Given the description of an element on the screen output the (x, y) to click on. 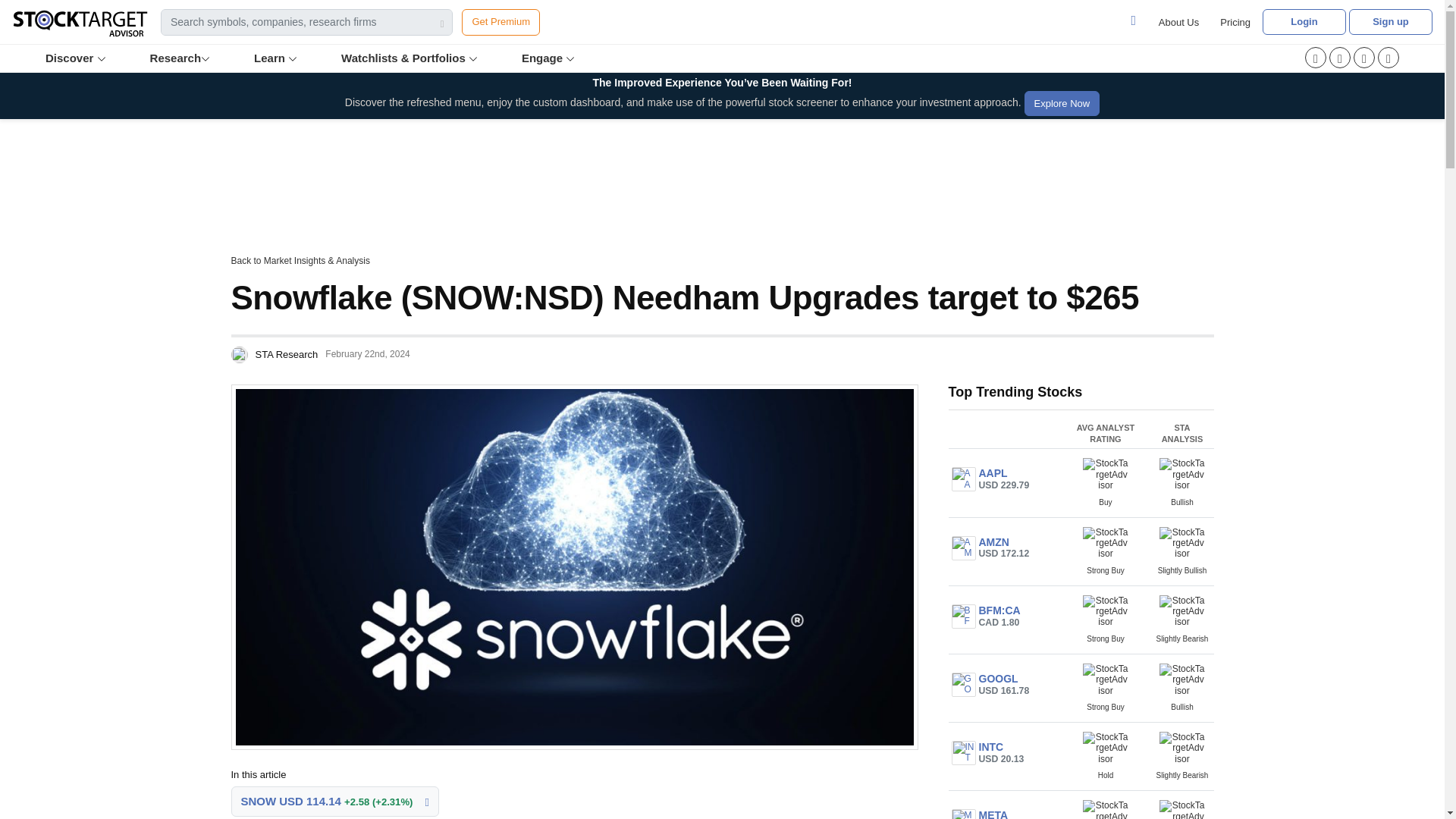
AMZN (963, 548)
GOOGL (963, 684)
Research (181, 58)
About Us (1179, 22)
StockTargetAdvisor (1181, 679)
BFM:CA (963, 616)
StockTargetAdvisor (1105, 473)
Login (1303, 22)
Discover (79, 58)
Learn (275, 58)
